Given the description of an element on the screen output the (x, y) to click on. 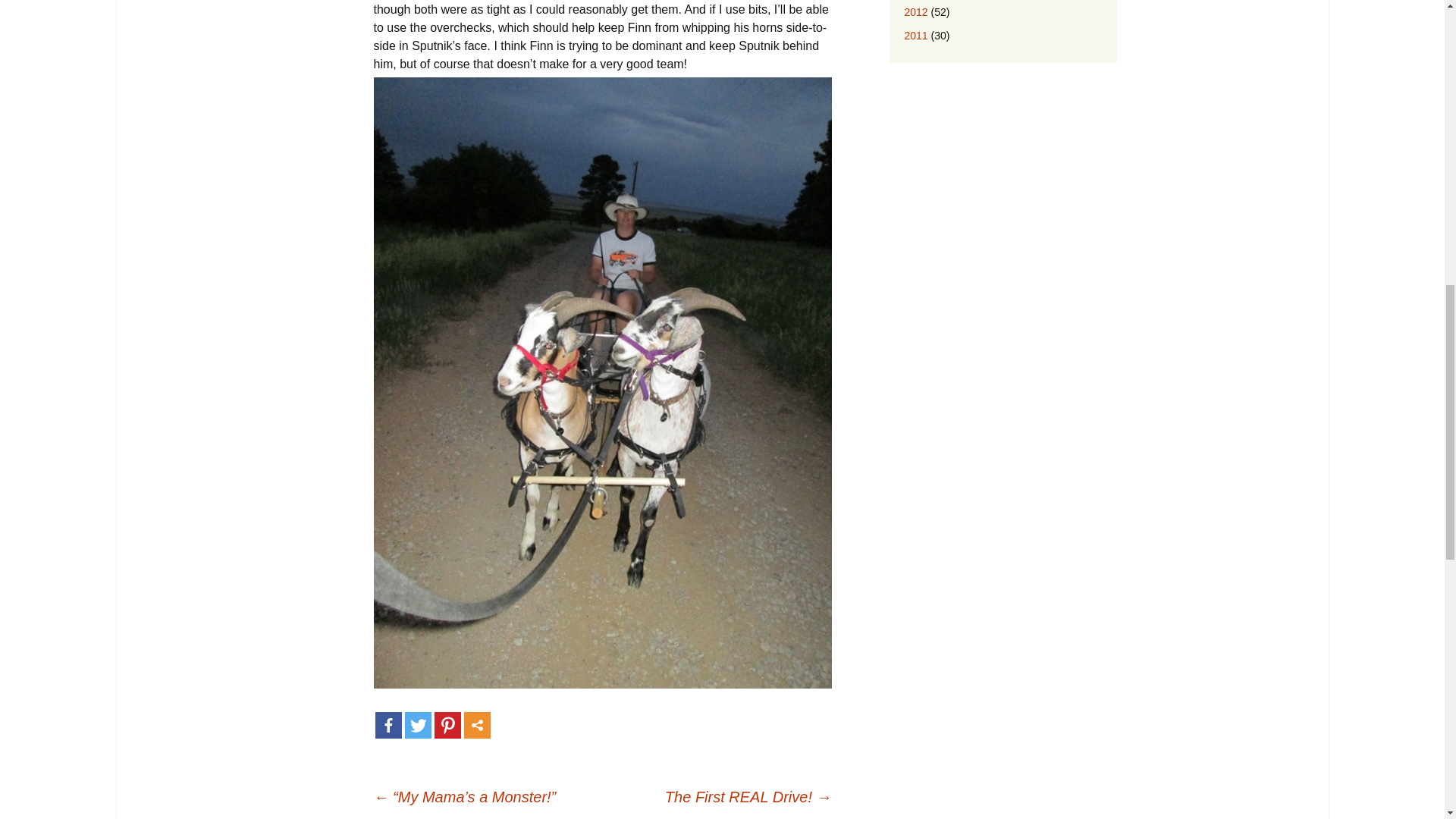
Twitter (417, 724)
Facebook (387, 724)
More (477, 724)
Pinterest (446, 724)
